Given the description of an element on the screen output the (x, y) to click on. 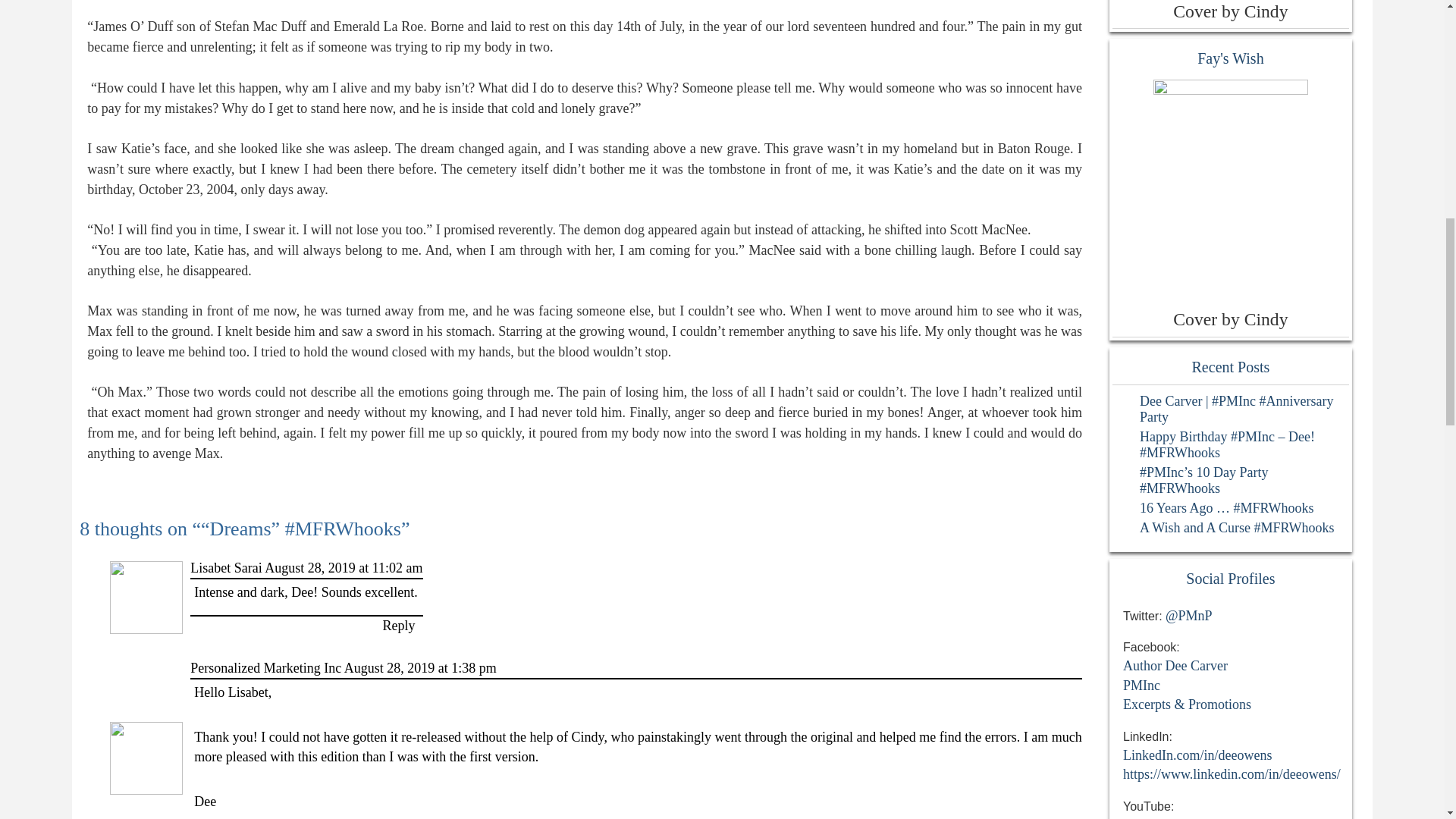
August 28, 2019 at 1:38 pm (419, 667)
August 28, 2019 at 11:02 am (343, 567)
Personalized Marketing Inc (265, 667)
Reply (398, 625)
Lisabet Sarai (226, 567)
